Given the description of an element on the screen output the (x, y) to click on. 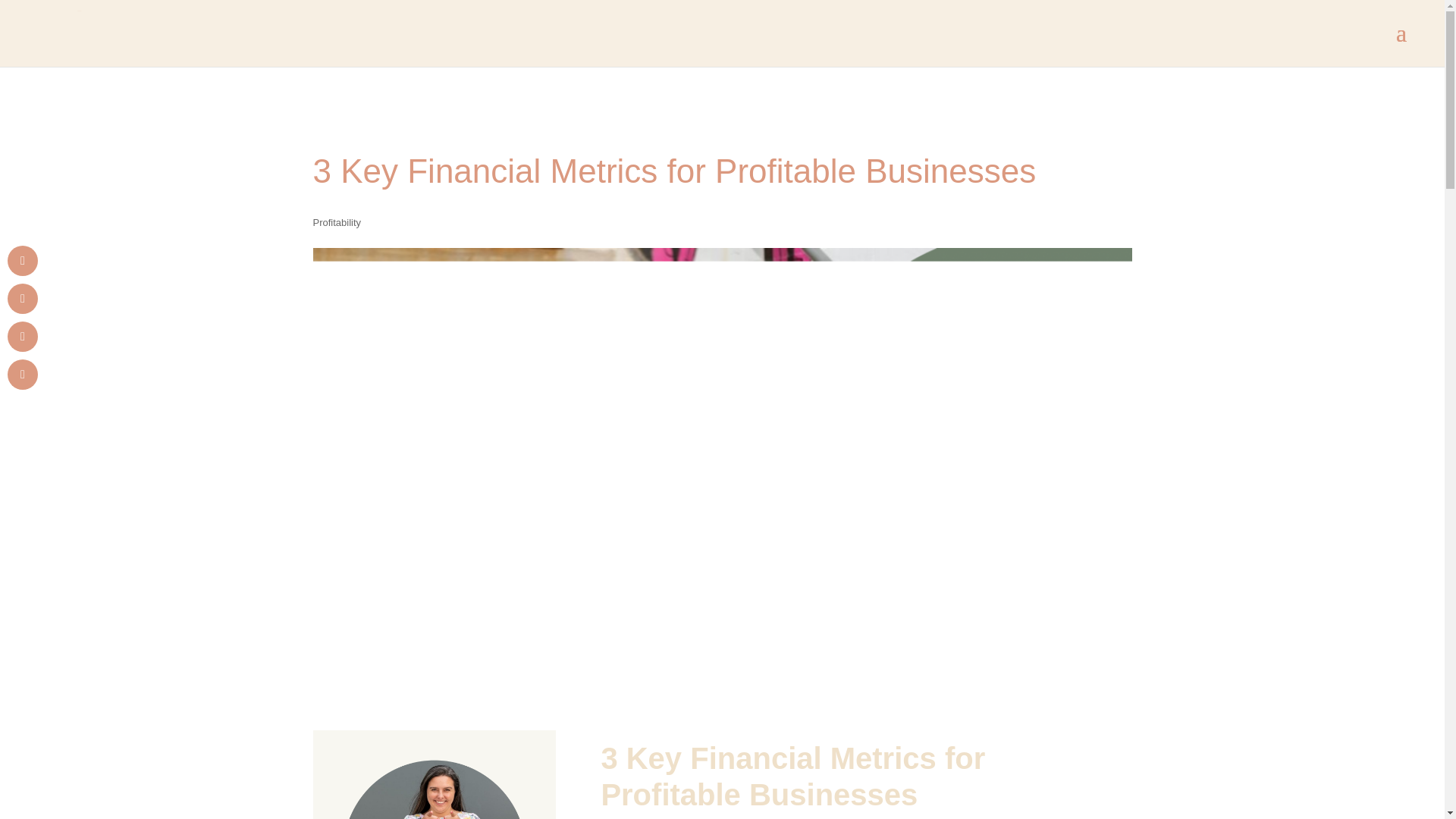
Profitability (337, 222)
